Given the description of an element on the screen output the (x, y) to click on. 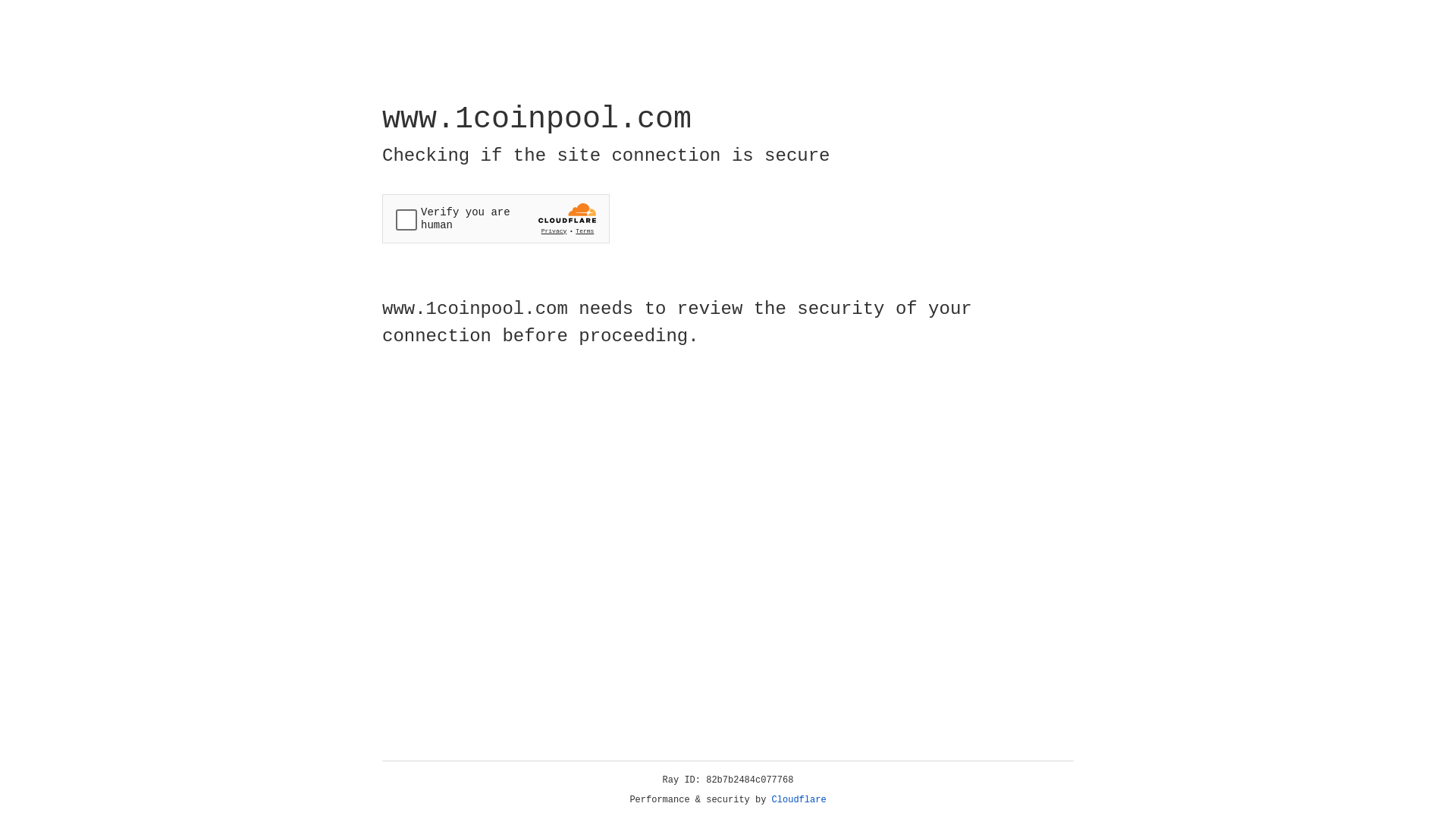
Widget containing a Cloudflare security challenge Element type: hover (495, 218)
Cloudflare Element type: text (798, 799)
